Given the description of an element on the screen output the (x, y) to click on. 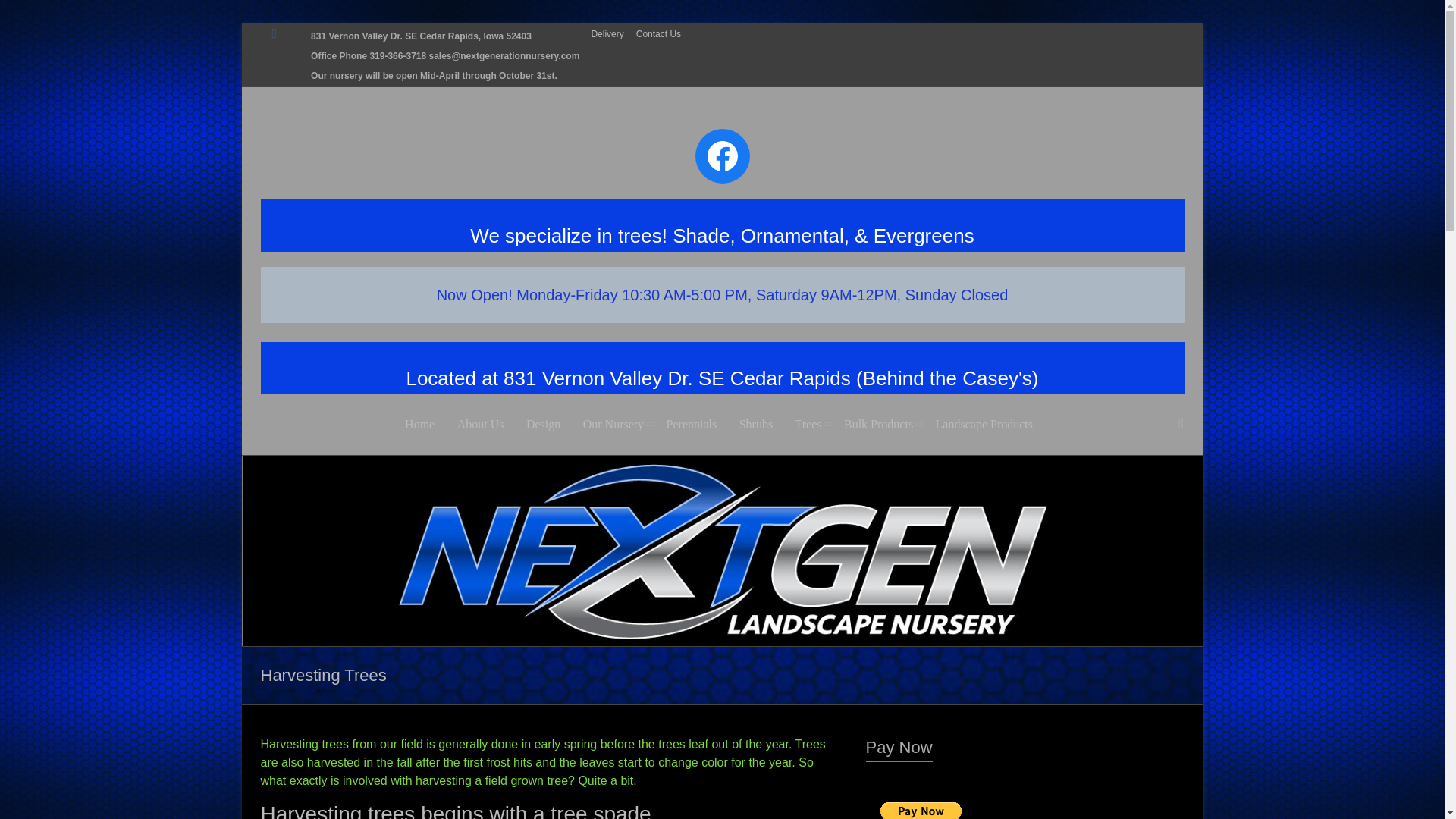
Home (418, 424)
Next Generation Landscape Nursery (782, 173)
Design (542, 424)
Contact Us (664, 31)
Shrubs (756, 424)
Facebook (721, 155)
Next Generation Landscape Nursery (721, 462)
Next Generation Landscape Nursery (782, 173)
About Us (480, 424)
Delivery (612, 31)
Landscape Products (984, 424)
Trees (808, 424)
Our Nursery (613, 424)
Bulk Products (878, 424)
